Given the description of an element on the screen output the (x, y) to click on. 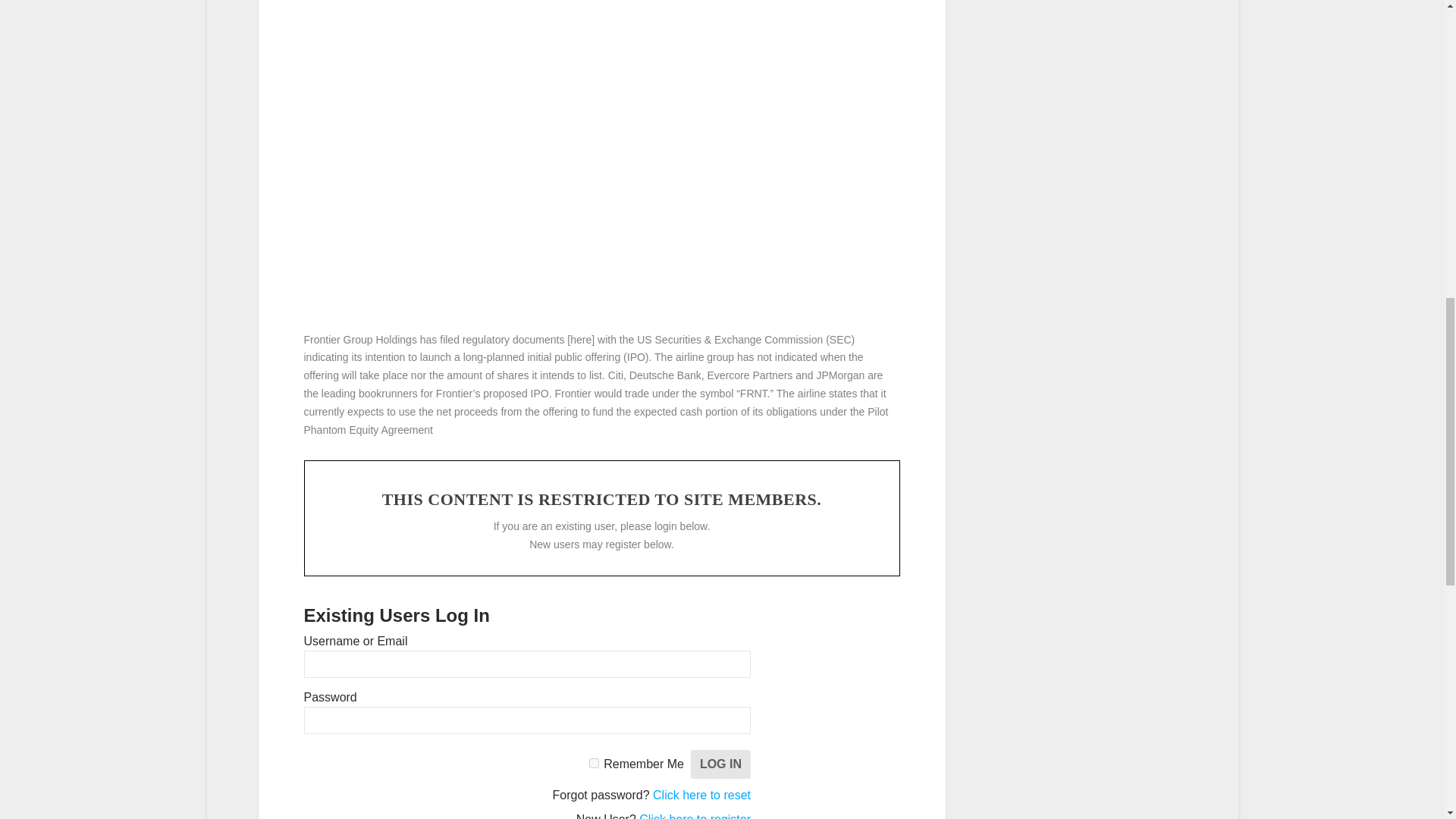
Log In (720, 764)
forever (593, 763)
